Given the description of an element on the screen output the (x, y) to click on. 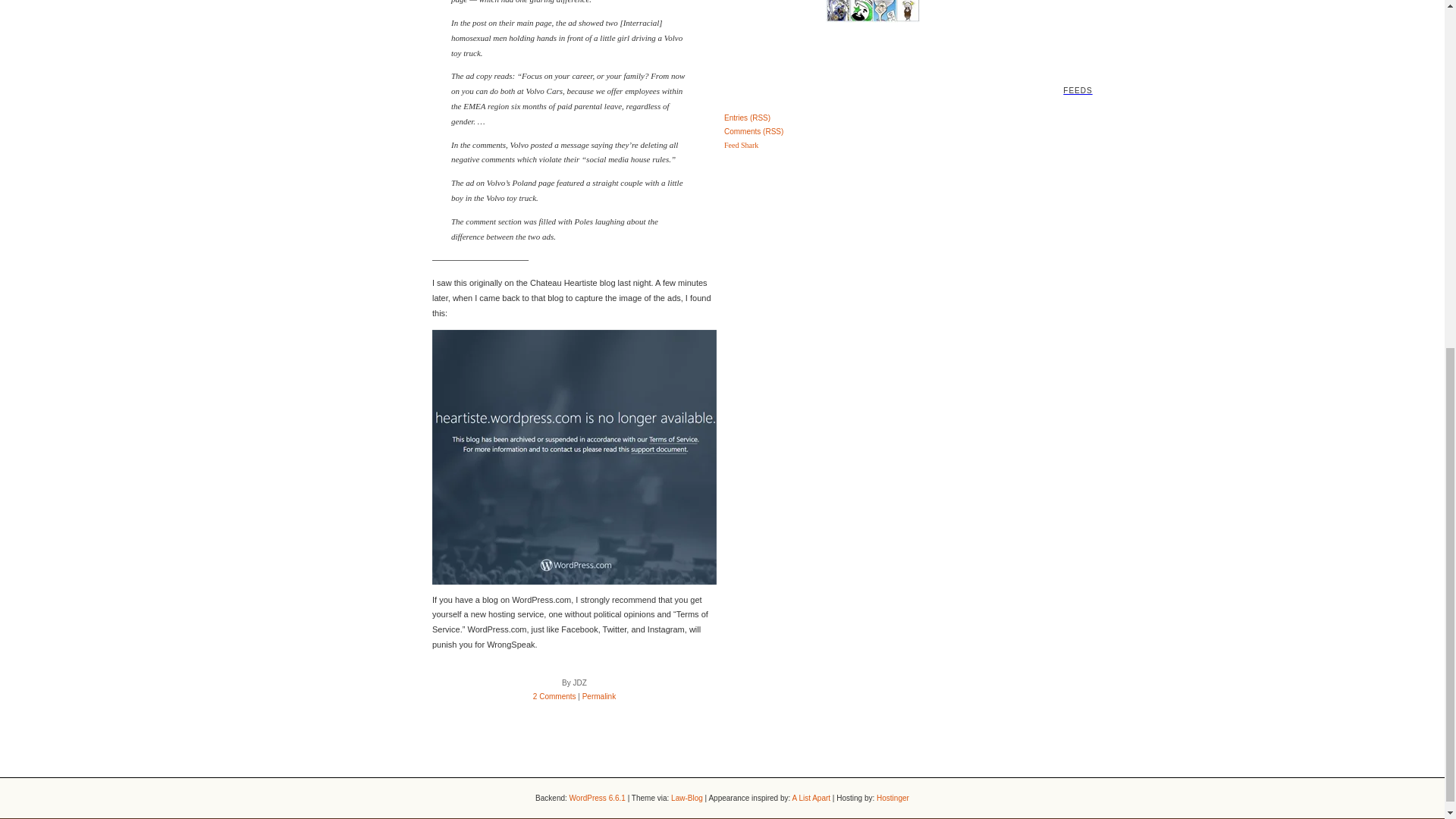
Feed Shark (740, 144)
Law-Blog (687, 797)
Hostinger (892, 797)
FEEDS (721, 67)
WordPress 6.6.1 (597, 797)
2 Comments (554, 696)
Permalink (598, 696)
A List Apart (810, 797)
